Given the description of an element on the screen output the (x, y) to click on. 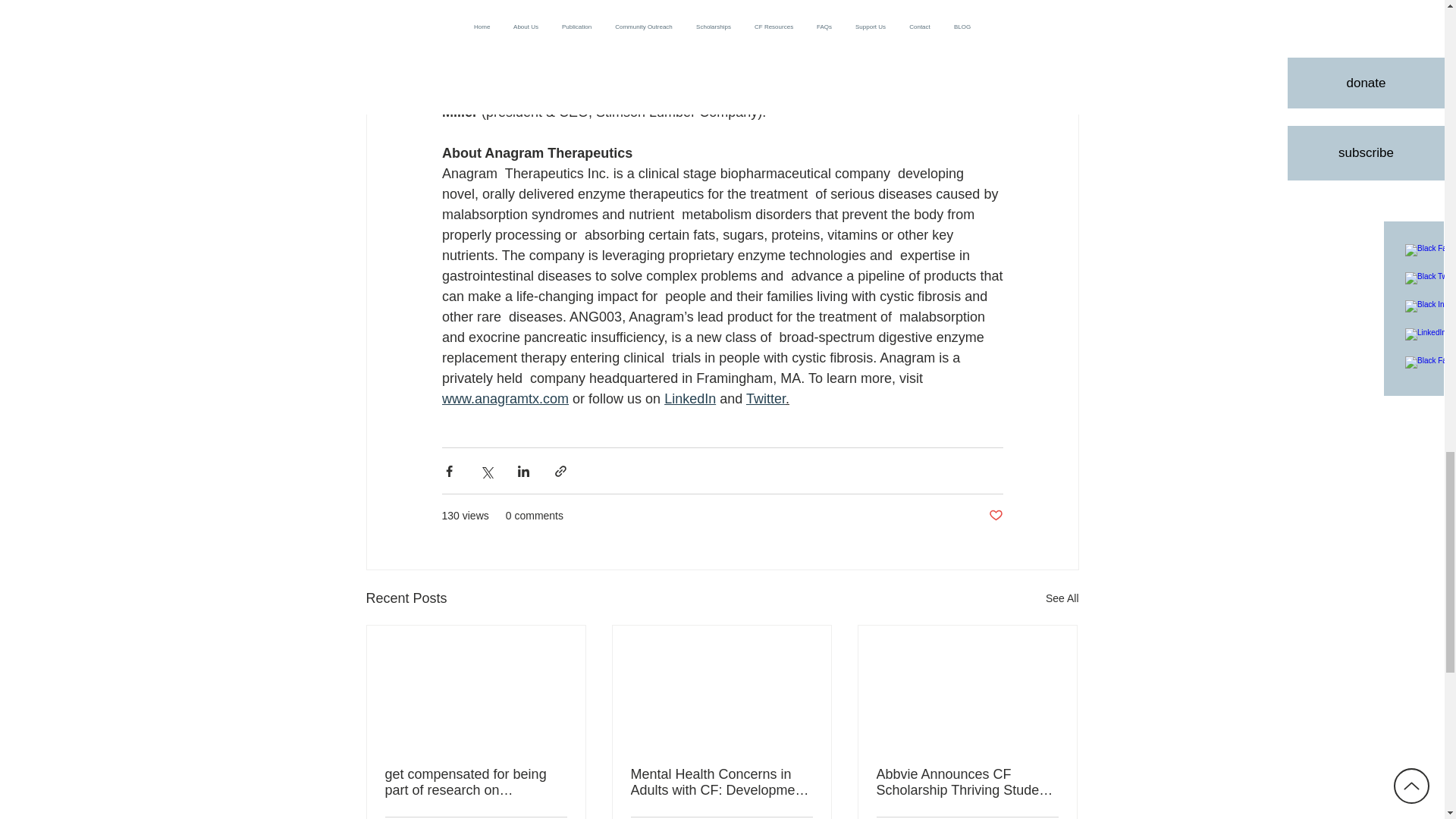
LinkedIn (689, 398)
Twitter (764, 398)
www.anagramtx.com (504, 398)
